Given the description of an element on the screen output the (x, y) to click on. 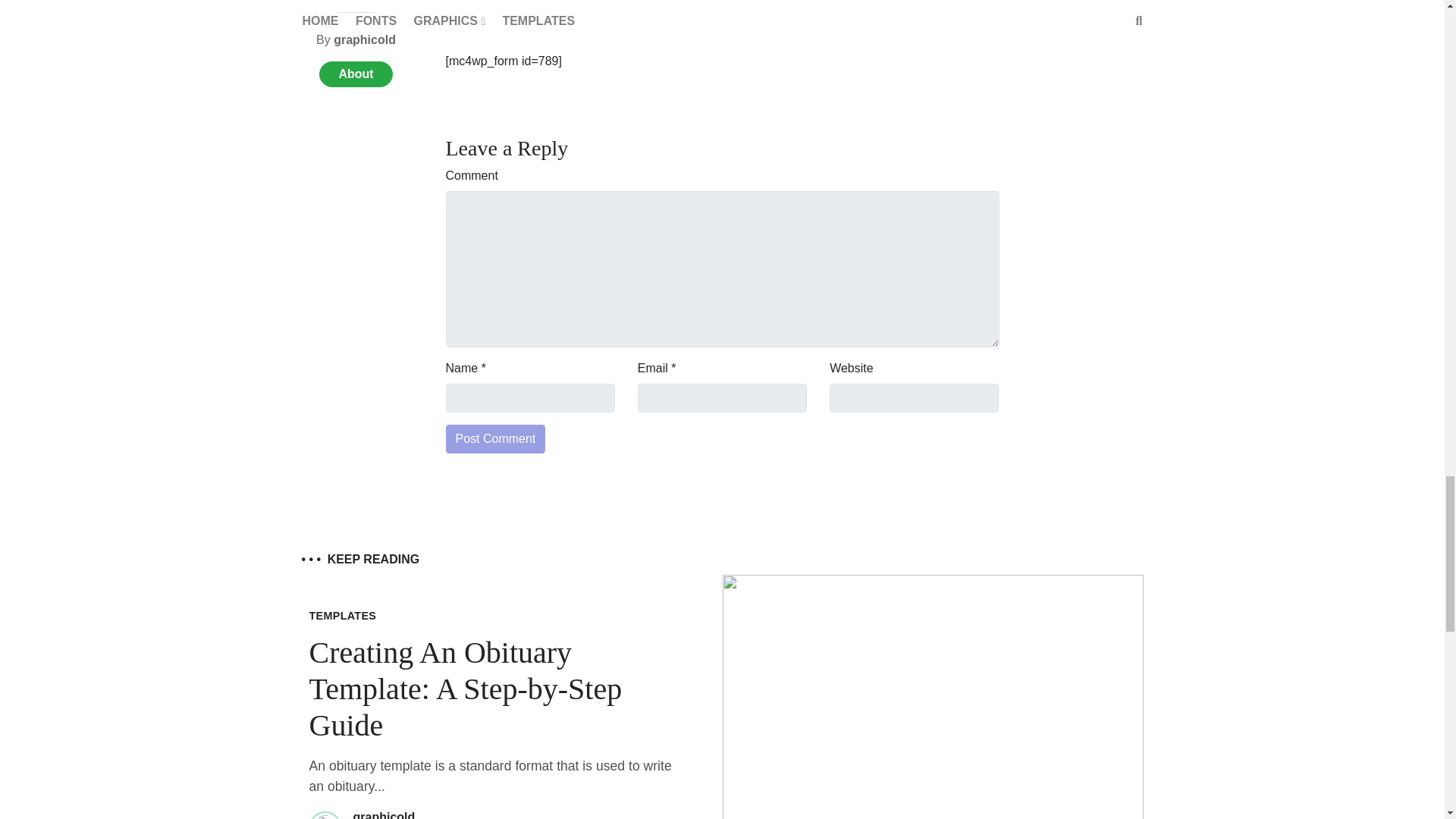
TEMPLATES (342, 615)
Posts by graphicold (383, 814)
graphicold (383, 814)
Post Comment (495, 439)
Post Comment (495, 439)
Creating An Obituary Template: A Step-by-Step Guide (465, 688)
